Given the description of an element on the screen output the (x, y) to click on. 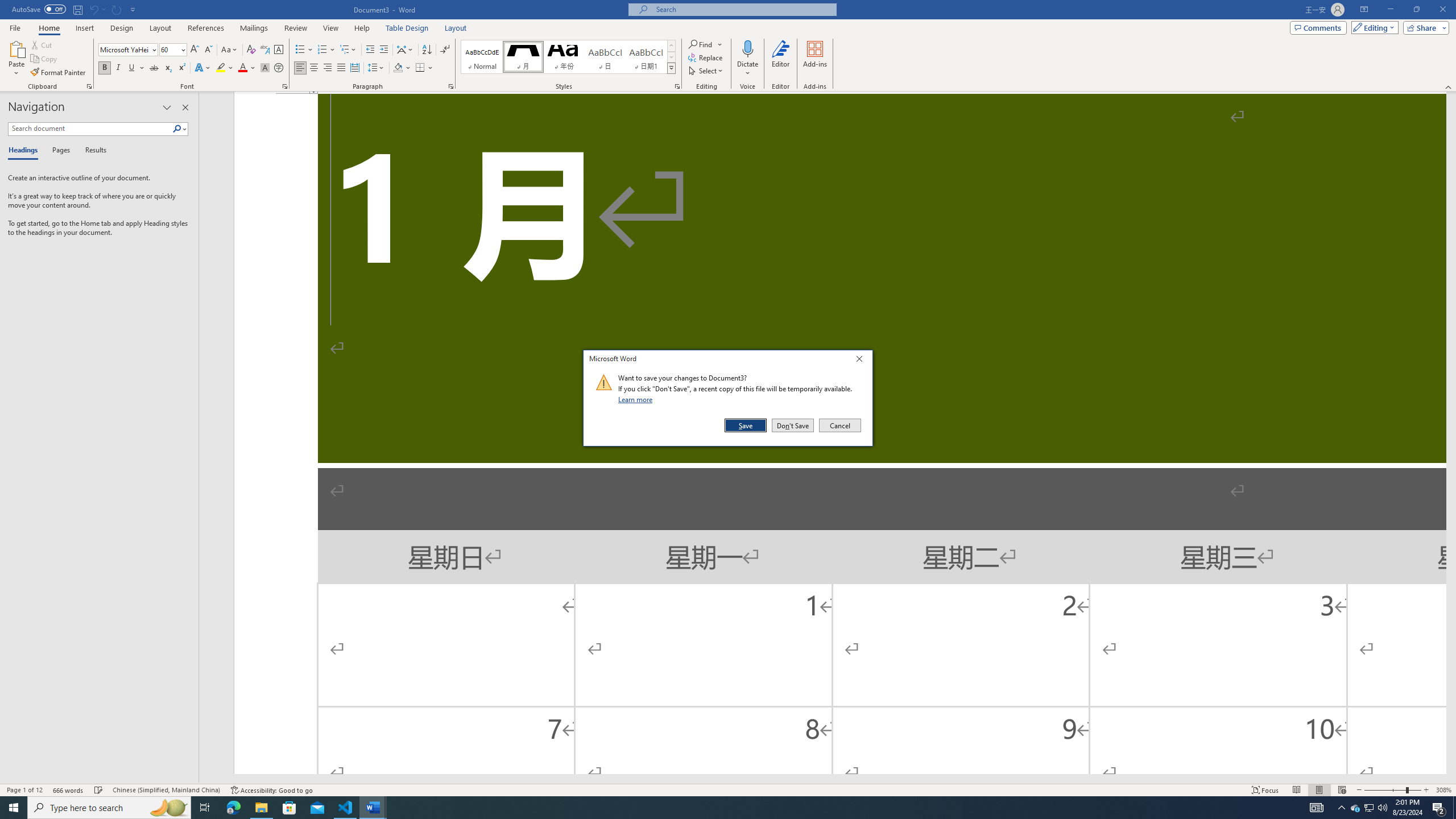
Row Down (670, 56)
Decrease Indent (370, 49)
Shading RGB(0, 0, 0) (397, 67)
Minimize (1390, 9)
Editor (780, 58)
Don't Save (792, 425)
Layout (455, 28)
Copy (45, 58)
References (205, 28)
Character Border (278, 49)
AutomationID: 4105 (1316, 807)
Paste (16, 58)
Results (91, 150)
